Given the description of an element on the screen output the (x, y) to click on. 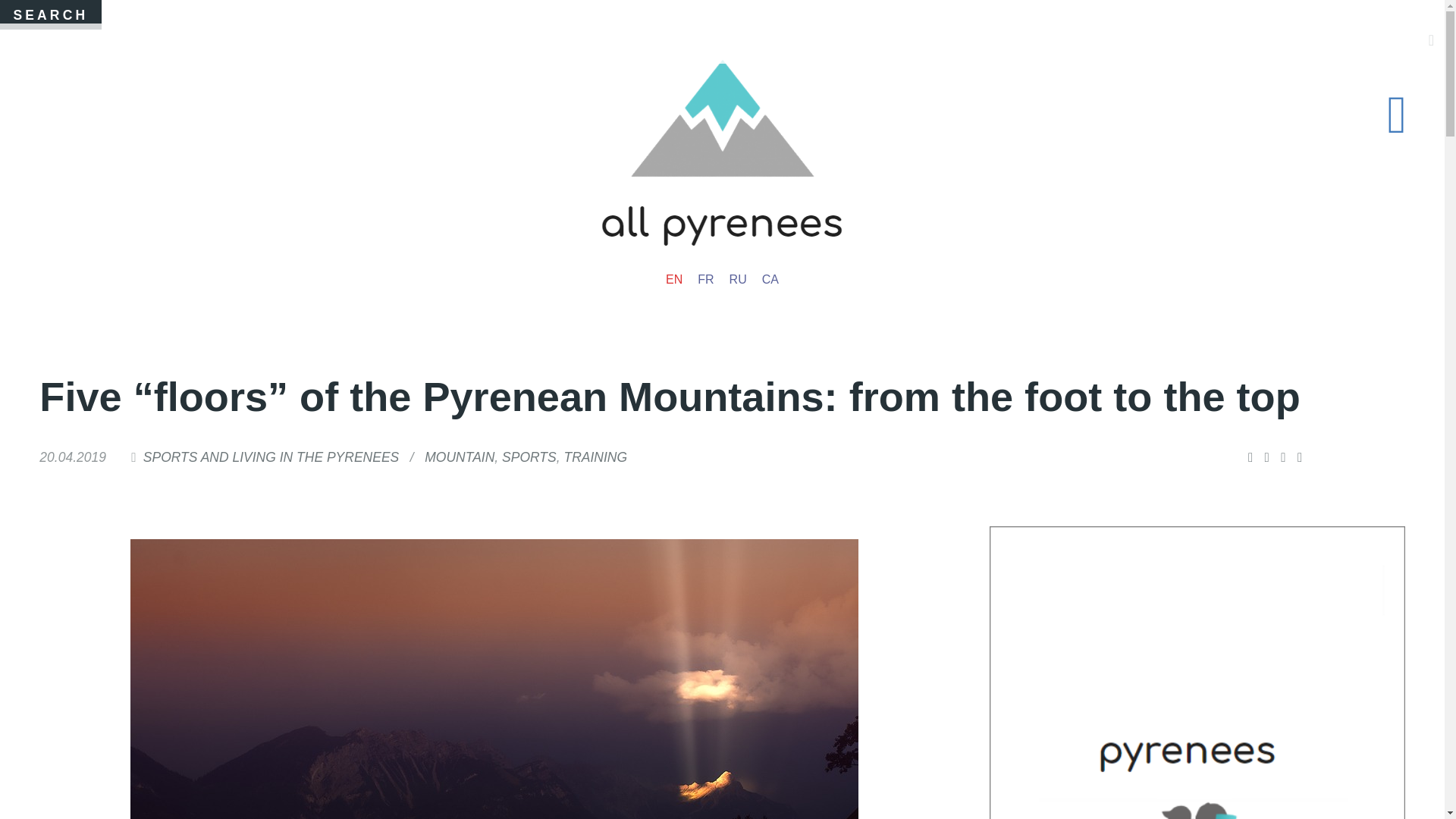
FR (705, 279)
SPORTS AND LIVING IN THE PYRENEES (270, 457)
EN (674, 279)
RU (738, 279)
MOUNTAIN (460, 457)
SPORTS (529, 457)
TRAINING (595, 457)
CA (770, 279)
